Given the description of an element on the screen output the (x, y) to click on. 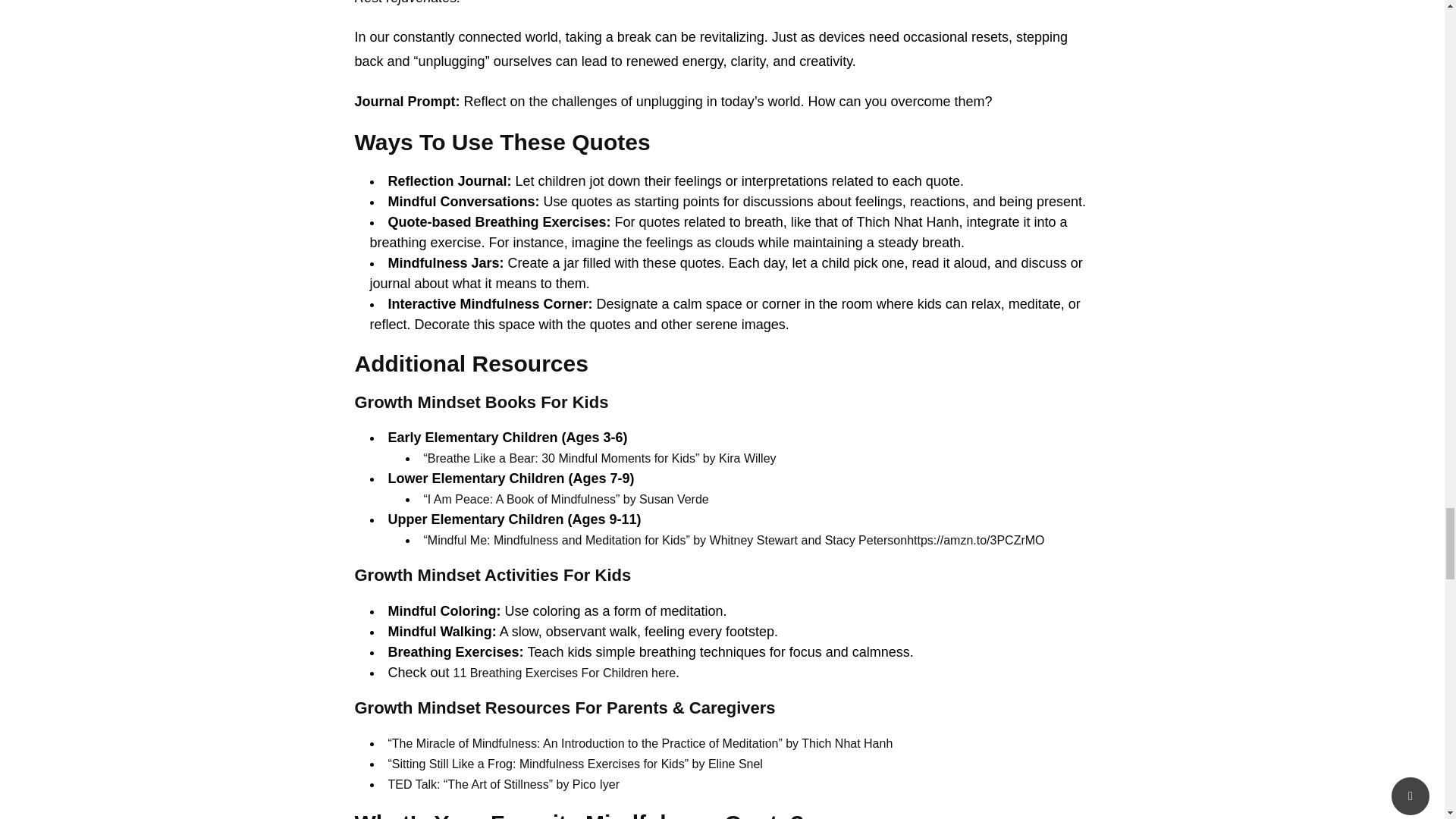
11 Breathing Exercises For Children here (563, 672)
